Given the description of an element on the screen output the (x, y) to click on. 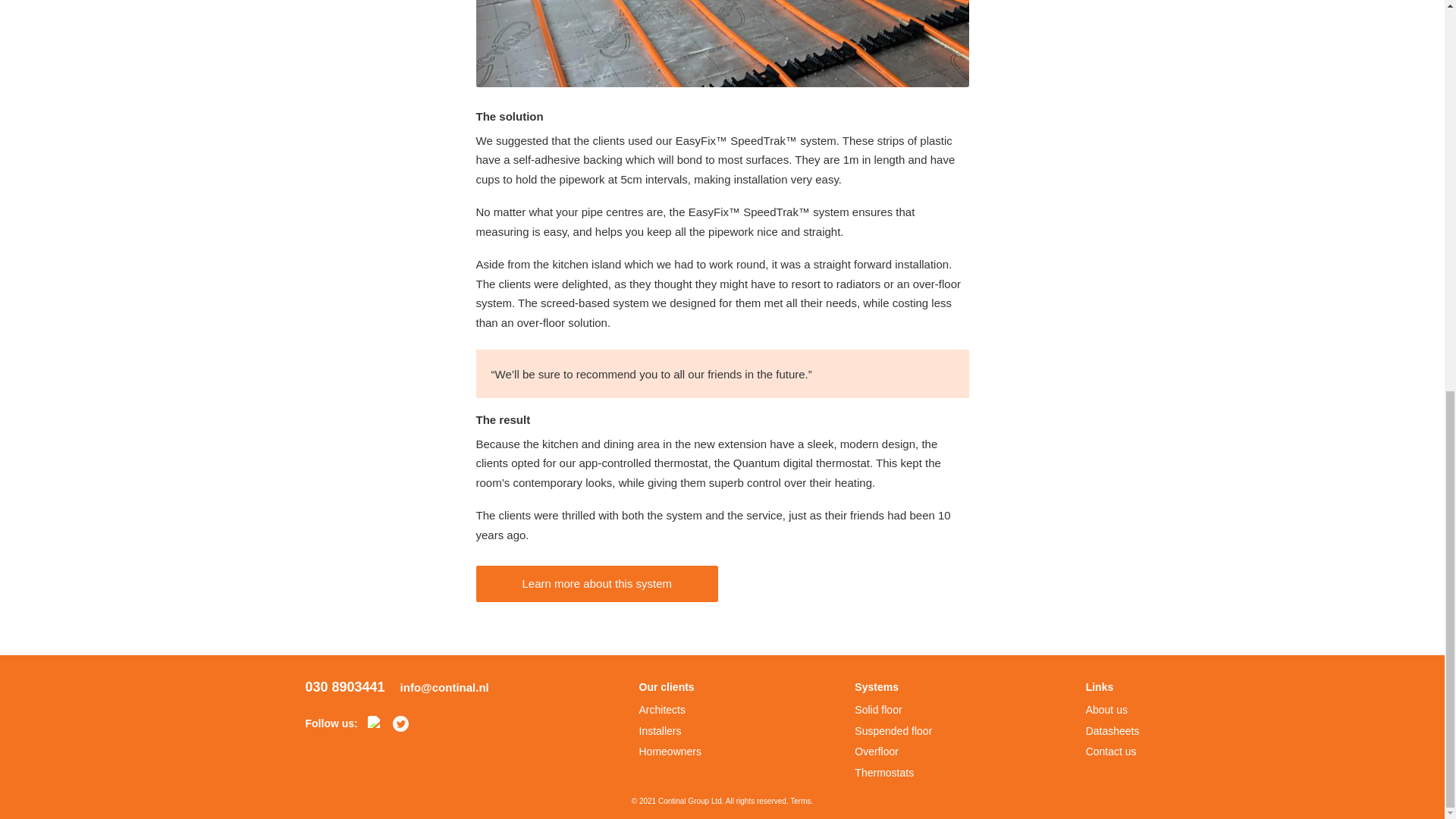
Overfloor (892, 752)
Learn more about this system (597, 583)
Solid floor (892, 711)
Suspended floor (892, 731)
About us (1113, 711)
Datasheets (1113, 731)
Thermostats (892, 773)
Homeowners (669, 752)
Architects (669, 711)
Installers (669, 731)
